Given the description of an element on the screen output the (x, y) to click on. 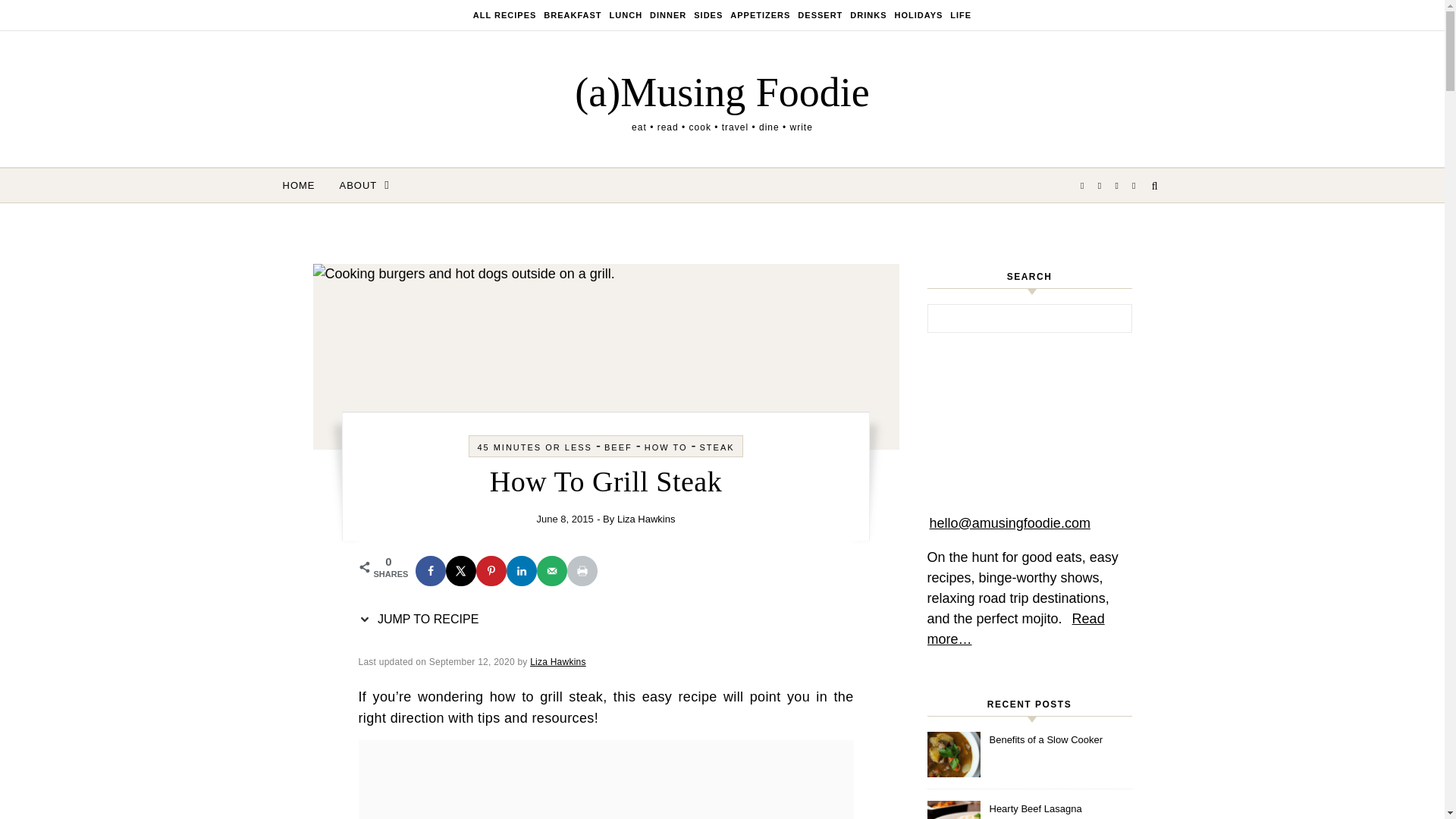
Food (506, 15)
HOW TO (666, 447)
Share on Facebook (429, 571)
APPETIZERS (759, 15)
ALL RECIPES (506, 15)
Liza Hawkins (557, 661)
ABOUT (358, 185)
SIDES (708, 15)
DINNER (668, 15)
45 MINUTES OR LESS (534, 447)
